Given the description of an element on the screen output the (x, y) to click on. 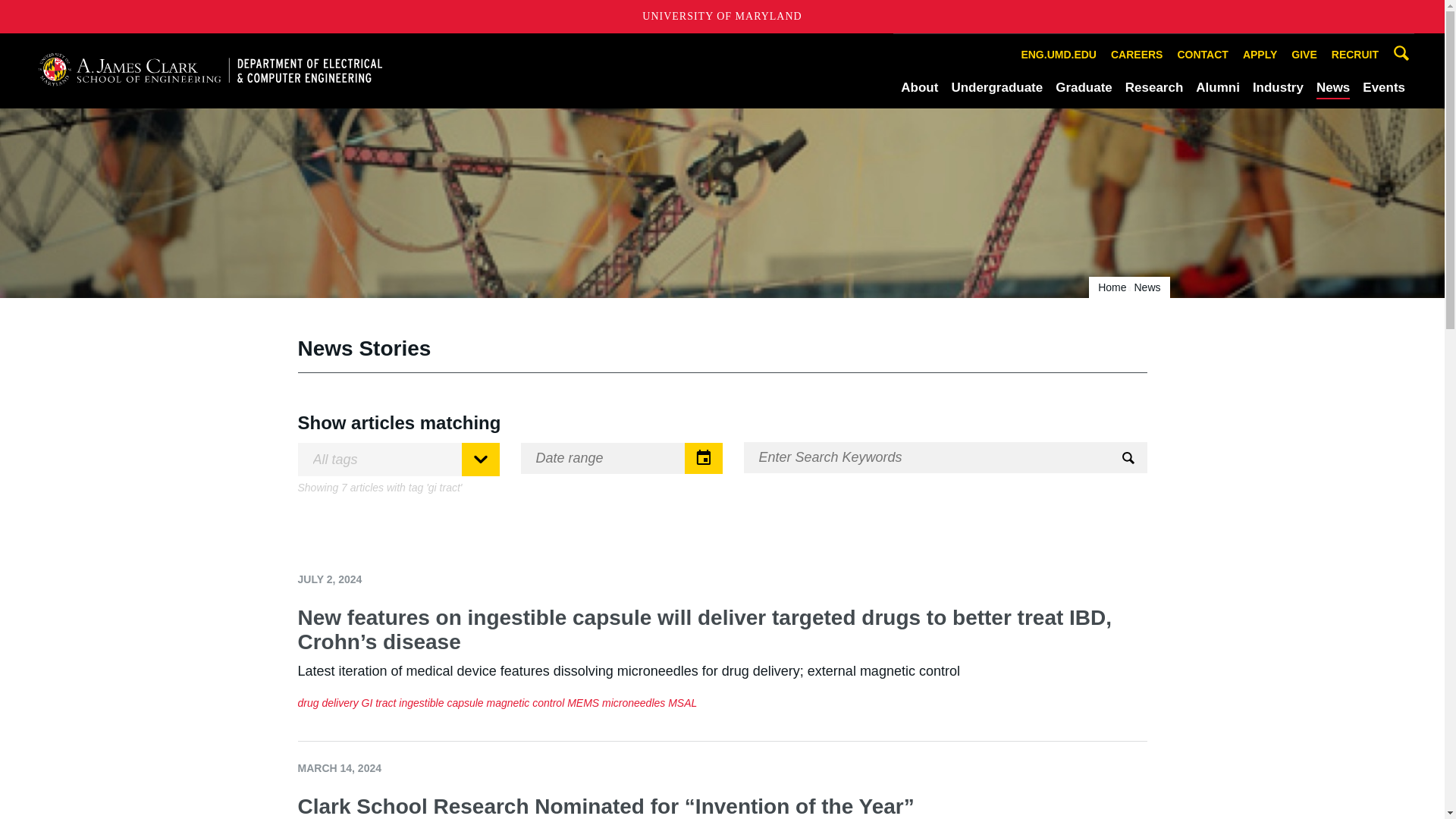
Undergraduate (996, 87)
UNIVERSITY OF MARYLAND (722, 16)
ENG.UMD.EDU (1058, 54)
GIVE (1303, 54)
RECRUIT (1355, 54)
A. James Clark School of Engineering, University of Maryland (209, 69)
APPLY (1259, 54)
About (919, 87)
CONTACT (1202, 54)
CAREERS (1136, 54)
